Given the description of an element on the screen output the (x, y) to click on. 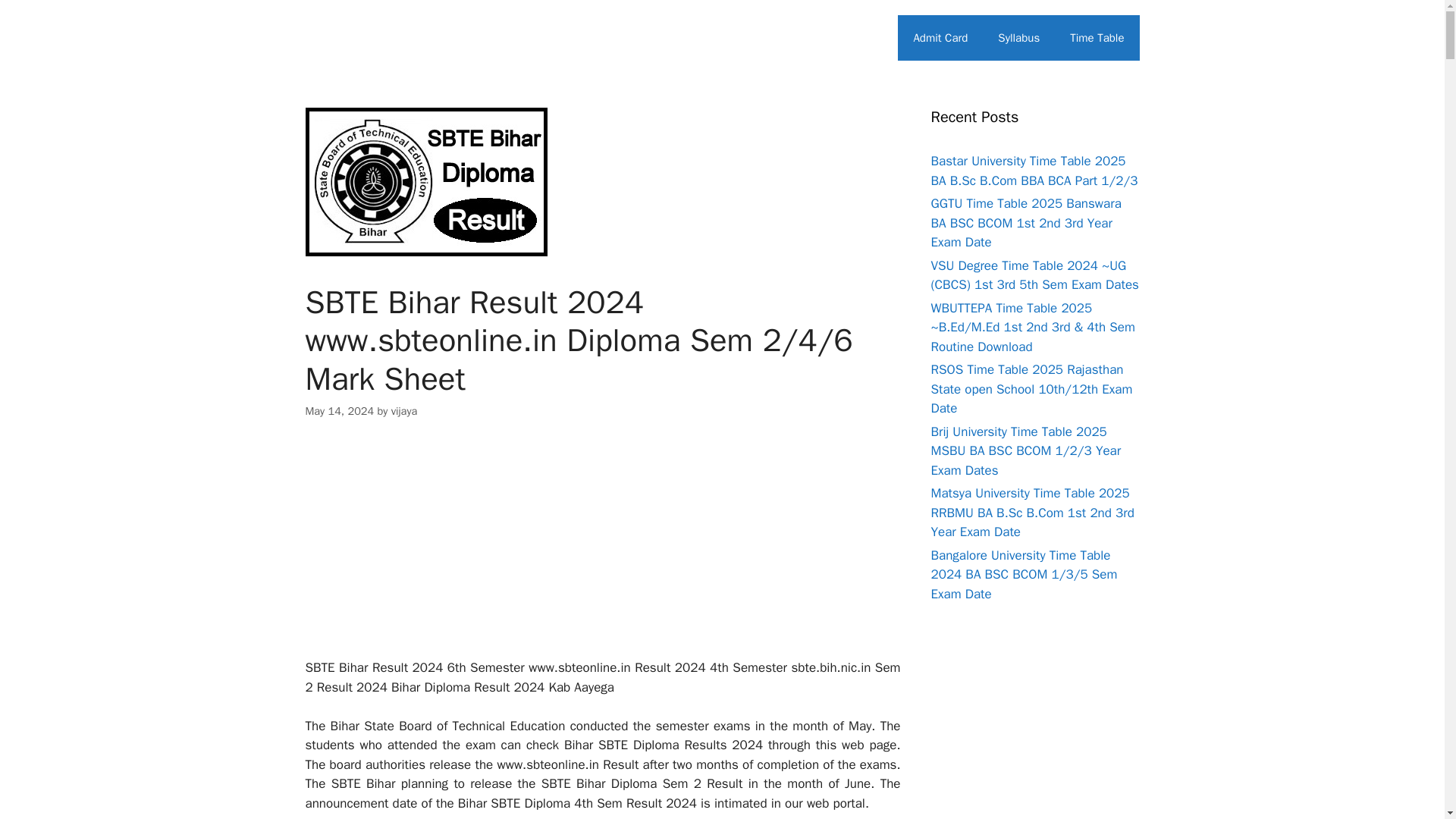
Time Table (1096, 37)
Admit Card (940, 37)
View all posts by vijaya (404, 410)
Advertisement (601, 551)
Syllabus (1018, 37)
vijaya (404, 410)
